Given the description of an element on the screen output the (x, y) to click on. 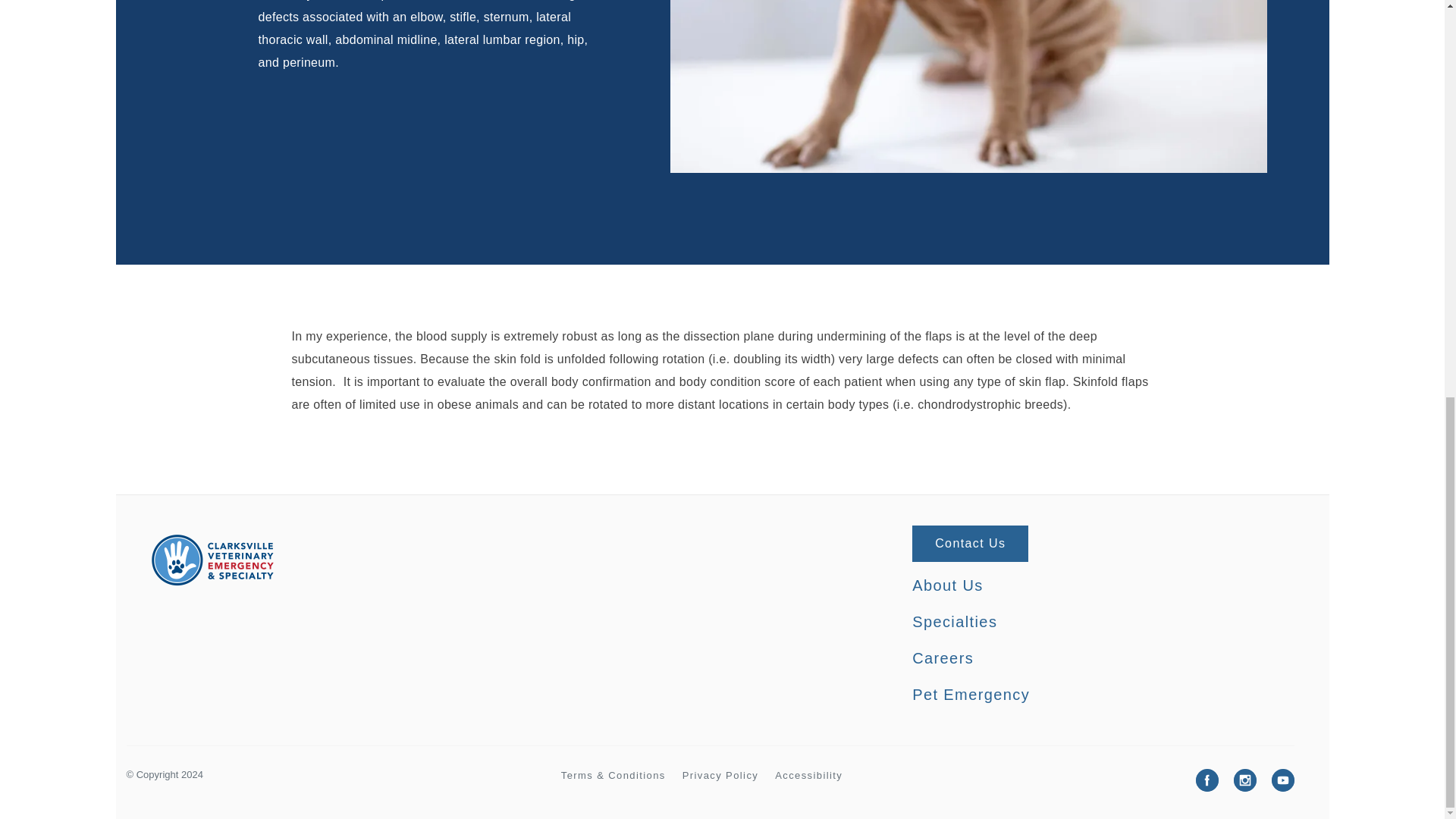
Careers (943, 658)
Specialties (954, 621)
About Us (947, 585)
Pet Emergency (970, 694)
Contact Us (969, 543)
